Given the description of an element on the screen output the (x, y) to click on. 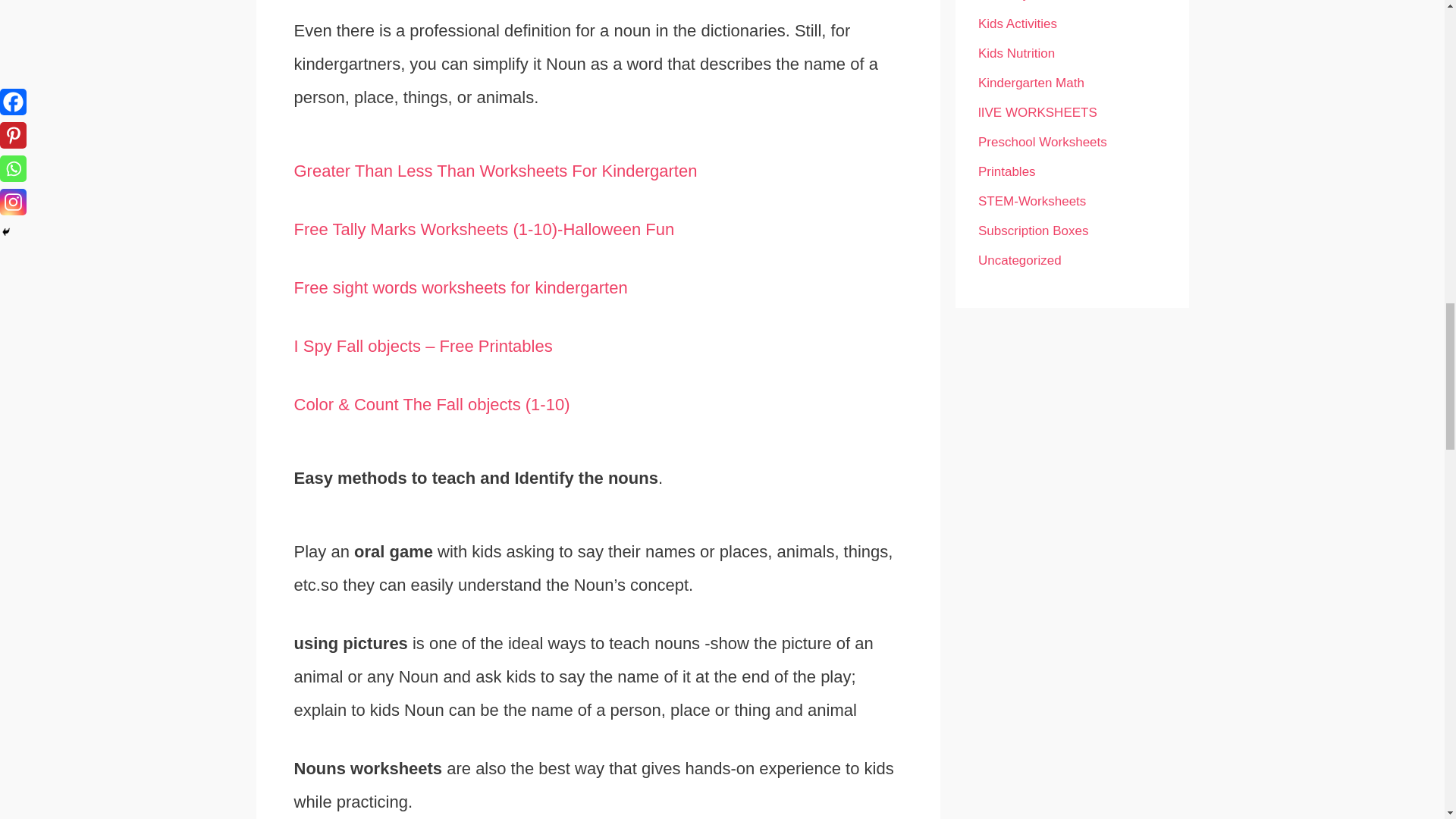
Greater Than Less Than Worksheets For Kindergarten (495, 170)
Free sight words worksheets for kindergarten (460, 287)
